Given the description of an element on the screen output the (x, y) to click on. 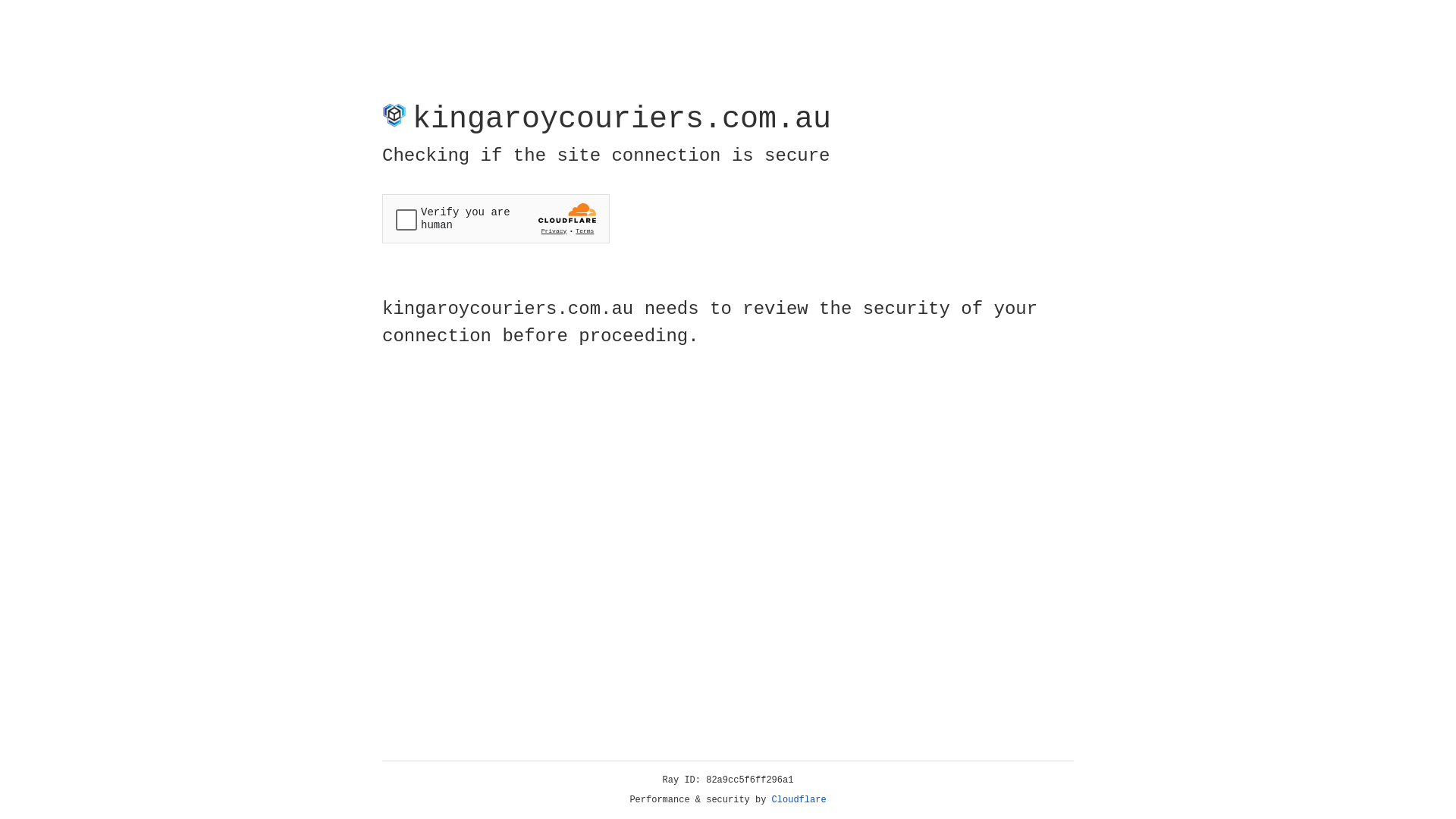
Widget containing a Cloudflare security challenge Element type: hover (495, 218)
Cloudflare Element type: text (798, 799)
